Given the description of an element on the screen output the (x, y) to click on. 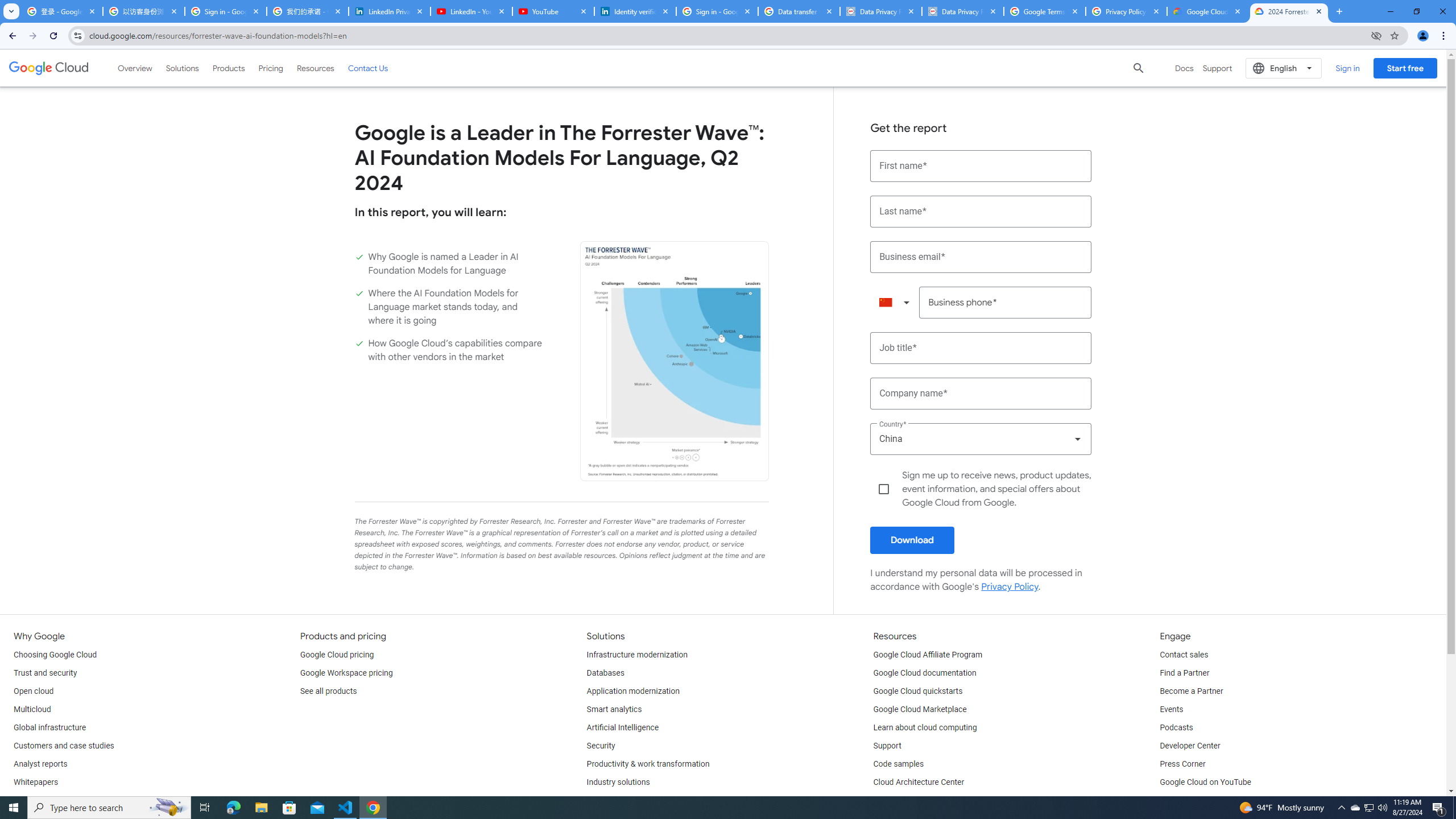
Google Cloud Tech on YouTube (1214, 800)
Press Corner (1181, 764)
Google Cloud Affiliate Program (927, 655)
DevOps solutions (617, 800)
Last name* (981, 211)
Training (887, 800)
Global infrastructure (49, 728)
Sign in - Google Accounts (225, 11)
Calling Code (+86) (894, 302)
